Given the description of an element on the screen output the (x, y) to click on. 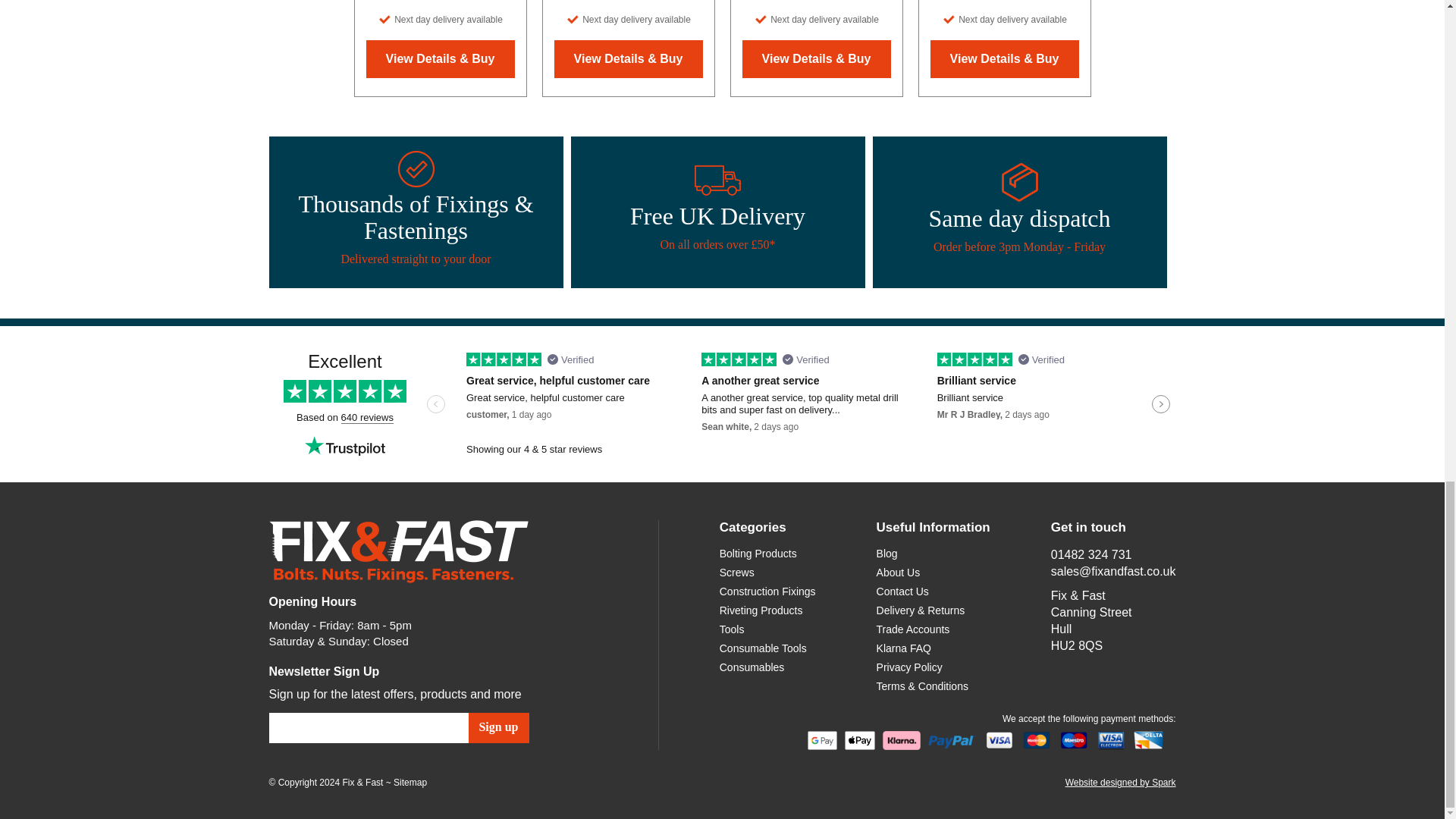
Customer reviews powered by Trustpilot (720, 405)
